Given the description of an element on the screen output the (x, y) to click on. 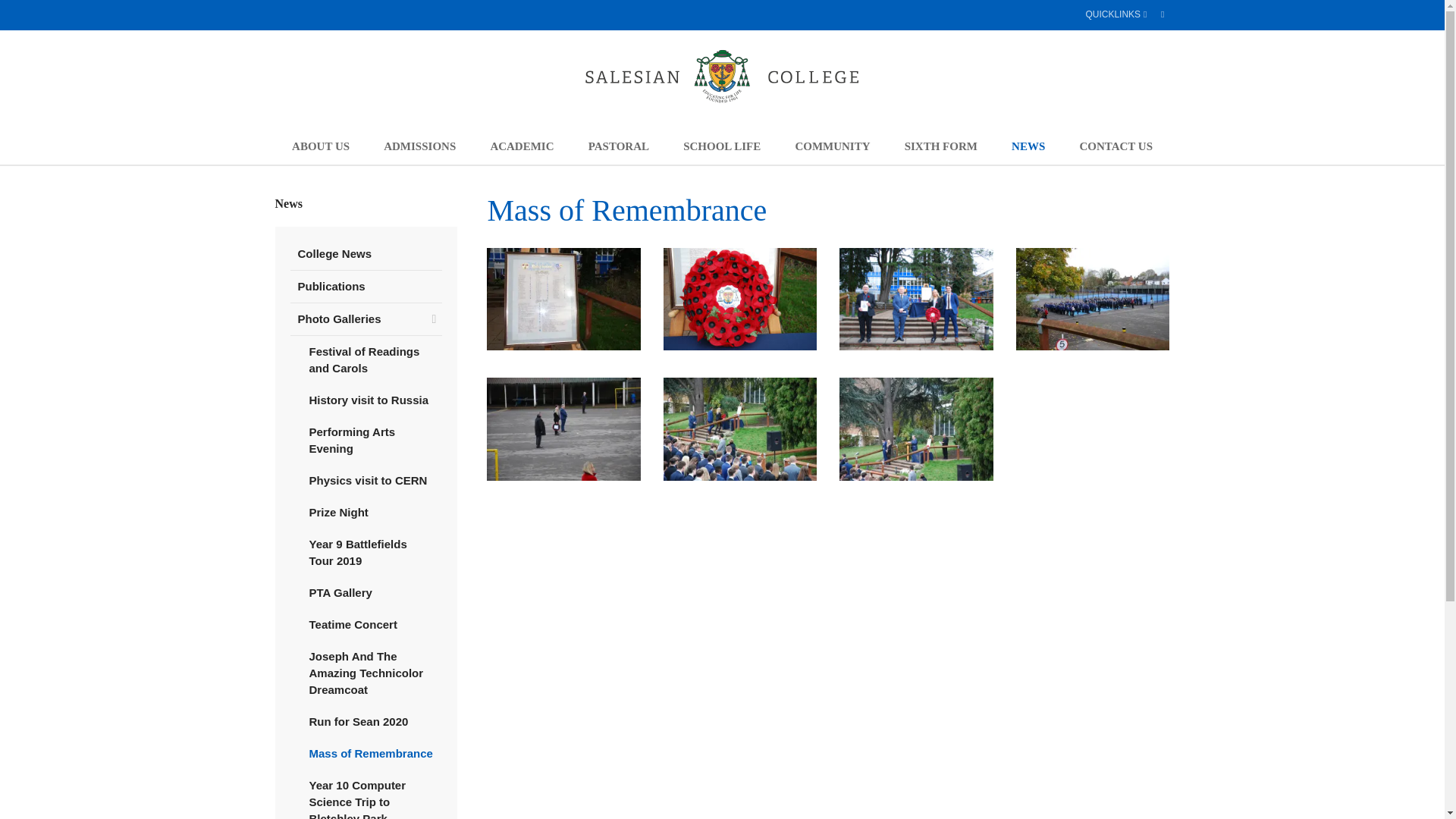
Salesian College (722, 76)
